Given the description of an element on the screen output the (x, y) to click on. 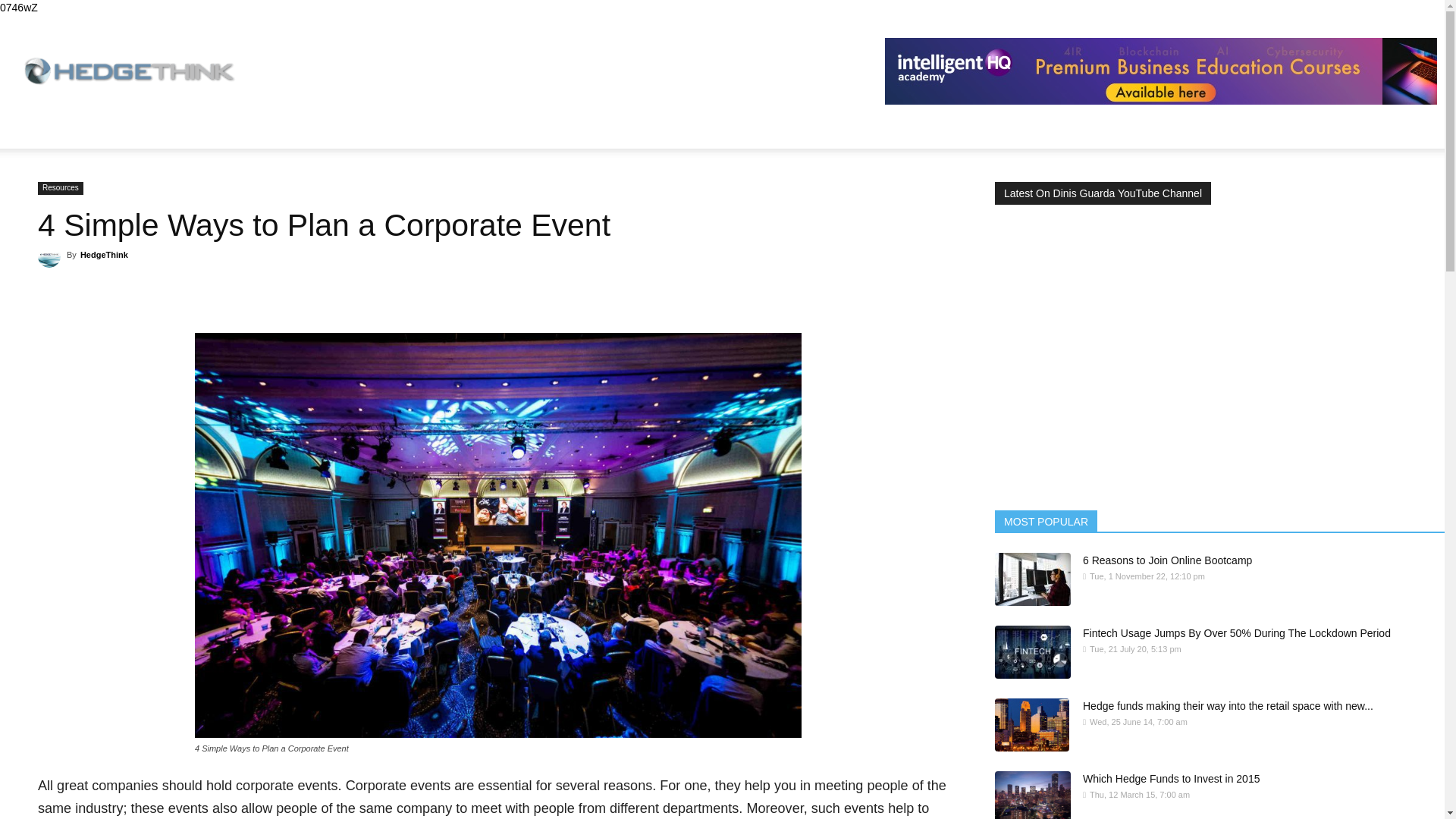
NEWS (55, 130)
EDUCATION (136, 130)
